Given the description of an element on the screen output the (x, y) to click on. 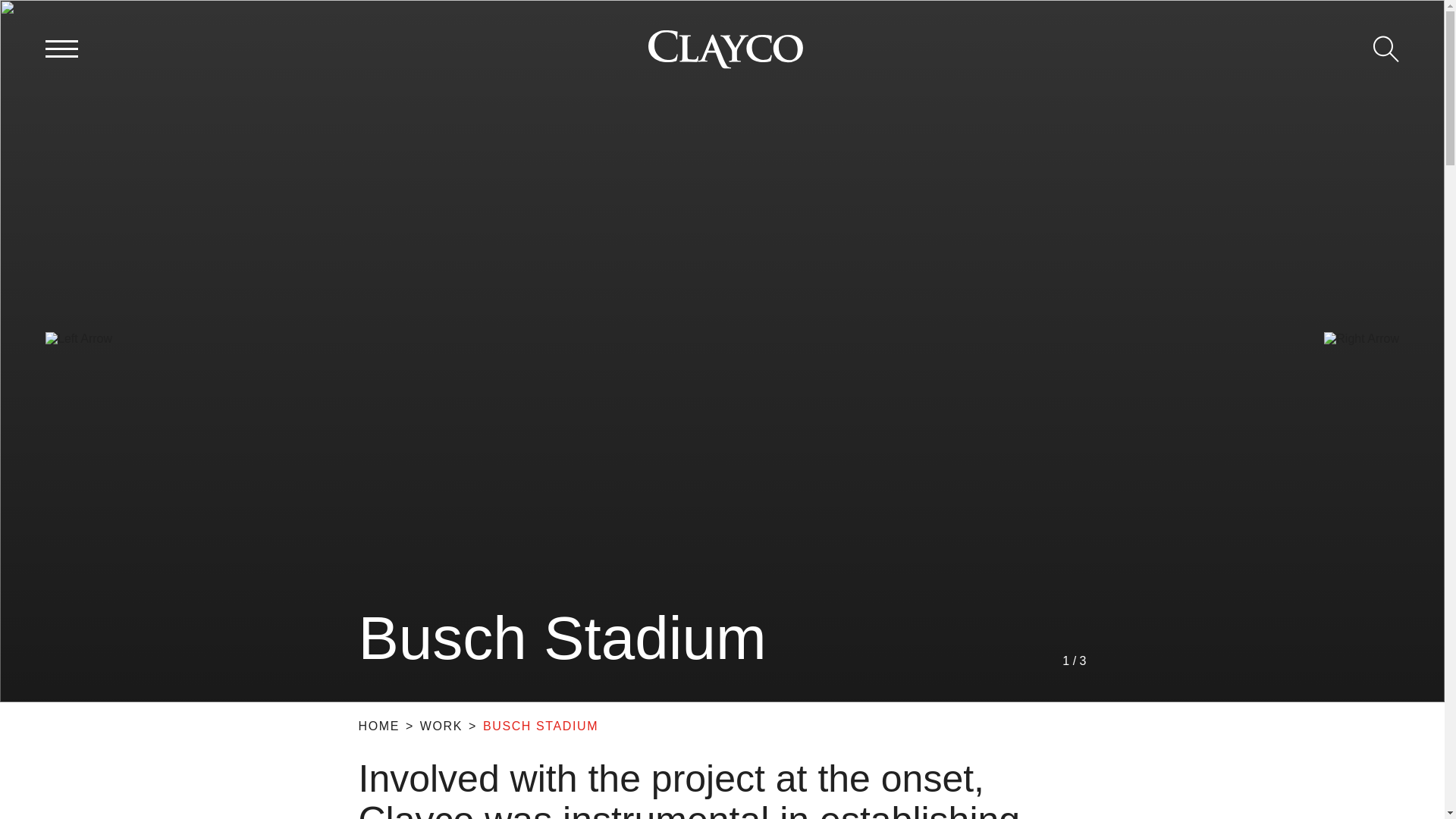
Search (1386, 49)
homepage (725, 49)
